Given the description of an element on the screen output the (x, y) to click on. 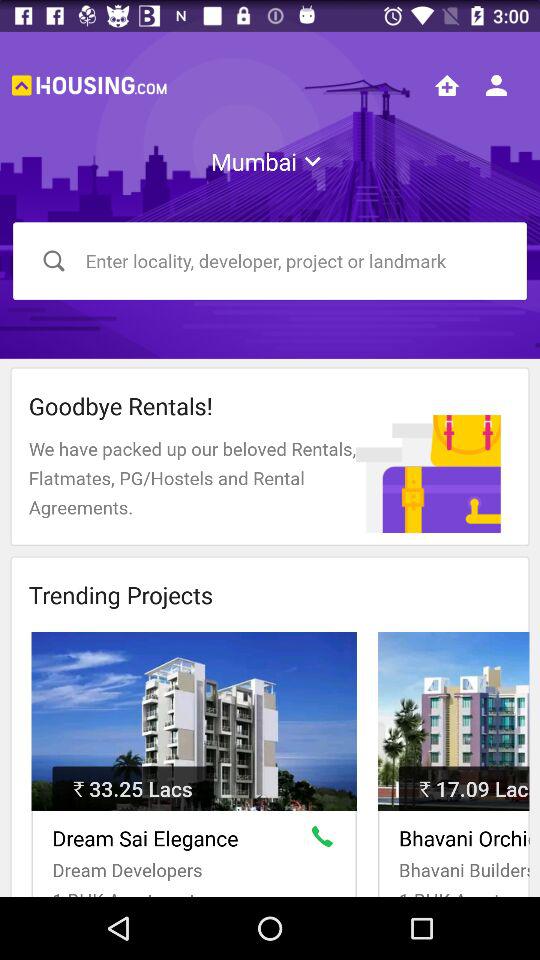
add property search (447, 85)
